Given the description of an element on the screen output the (x, y) to click on. 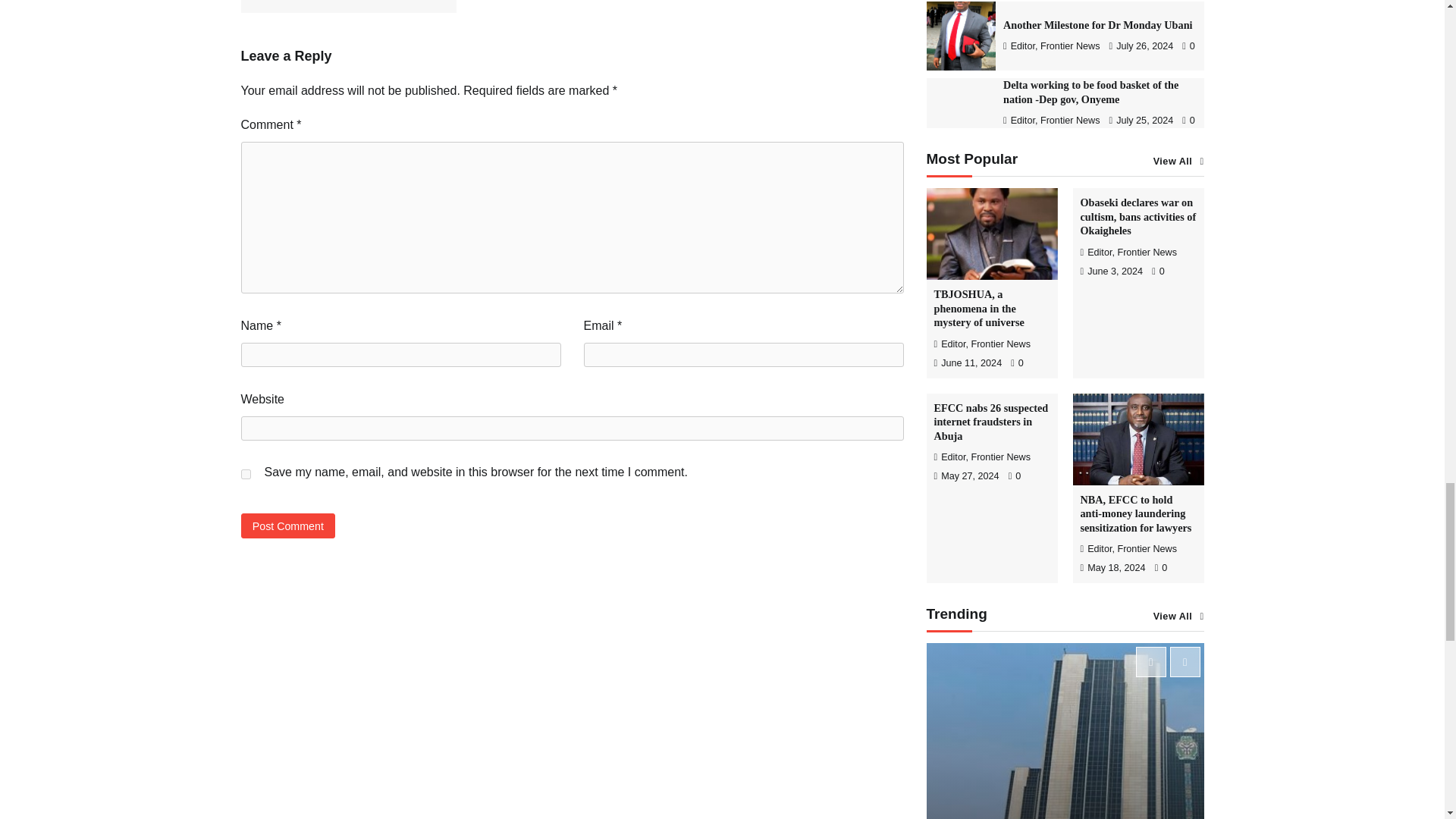
yes (245, 474)
Post Comment (288, 525)
